Given the description of an element on the screen output the (x, y) to click on. 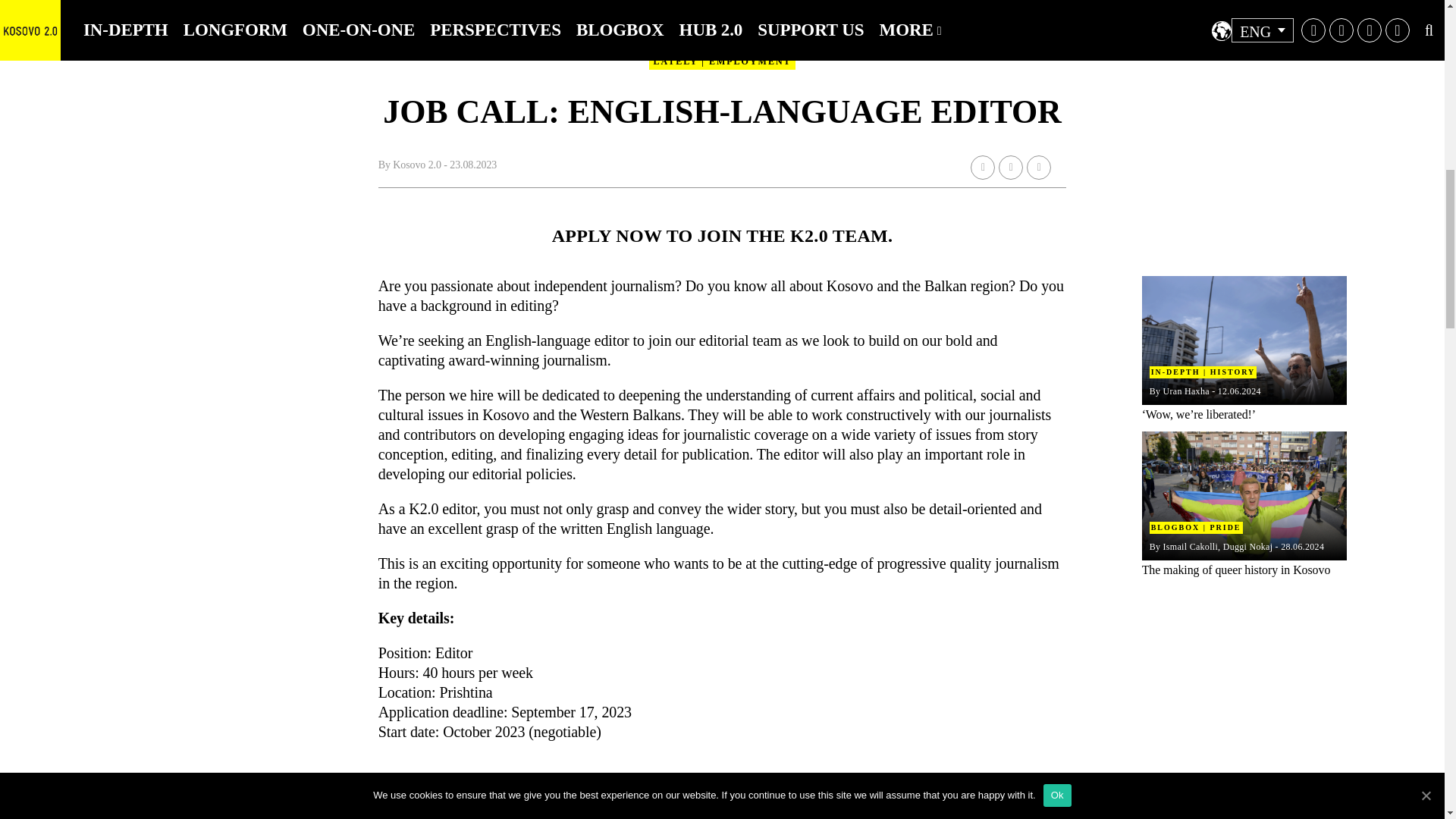
Posts by Ismail Cakolli (1190, 546)
Posts by Uran Haxha (1186, 390)
Posts by Duggi Nokaj (1247, 546)
Posts by Kosovo 2.0 (417, 164)
